Given the description of an element on the screen output the (x, y) to click on. 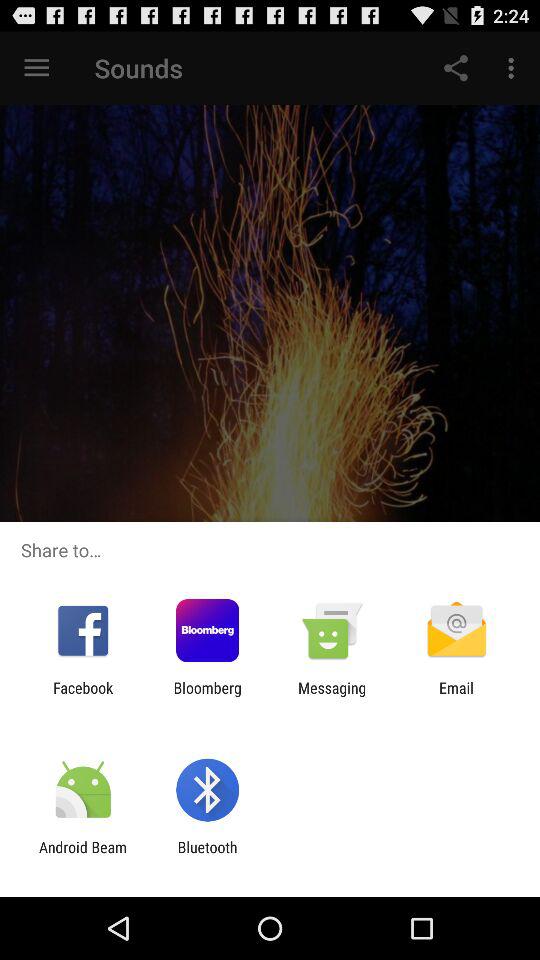
jump until email icon (456, 696)
